Given the description of an element on the screen output the (x, y) to click on. 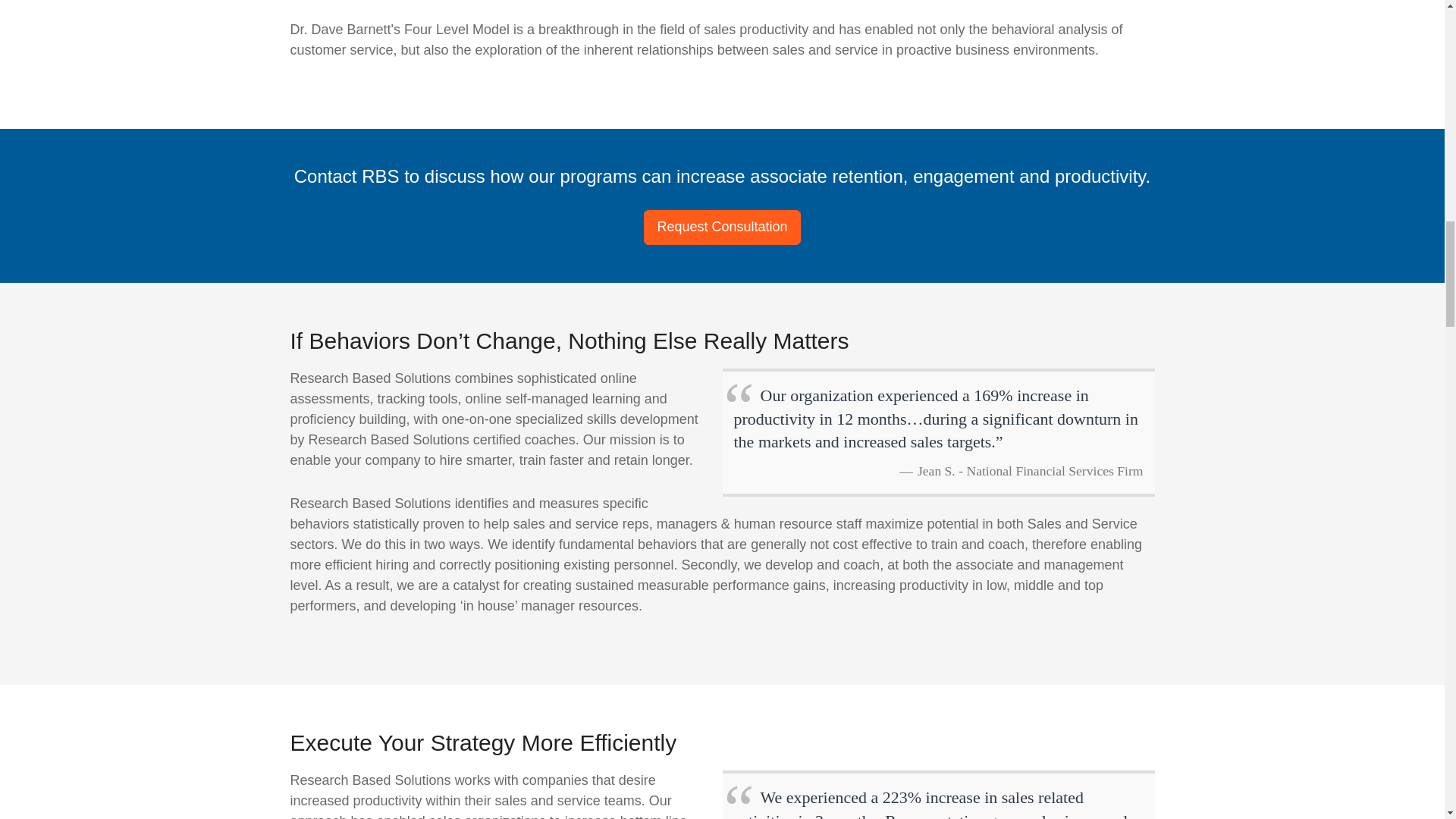
Request Consultation (721, 226)
